Given the description of an element on the screen output the (x, y) to click on. 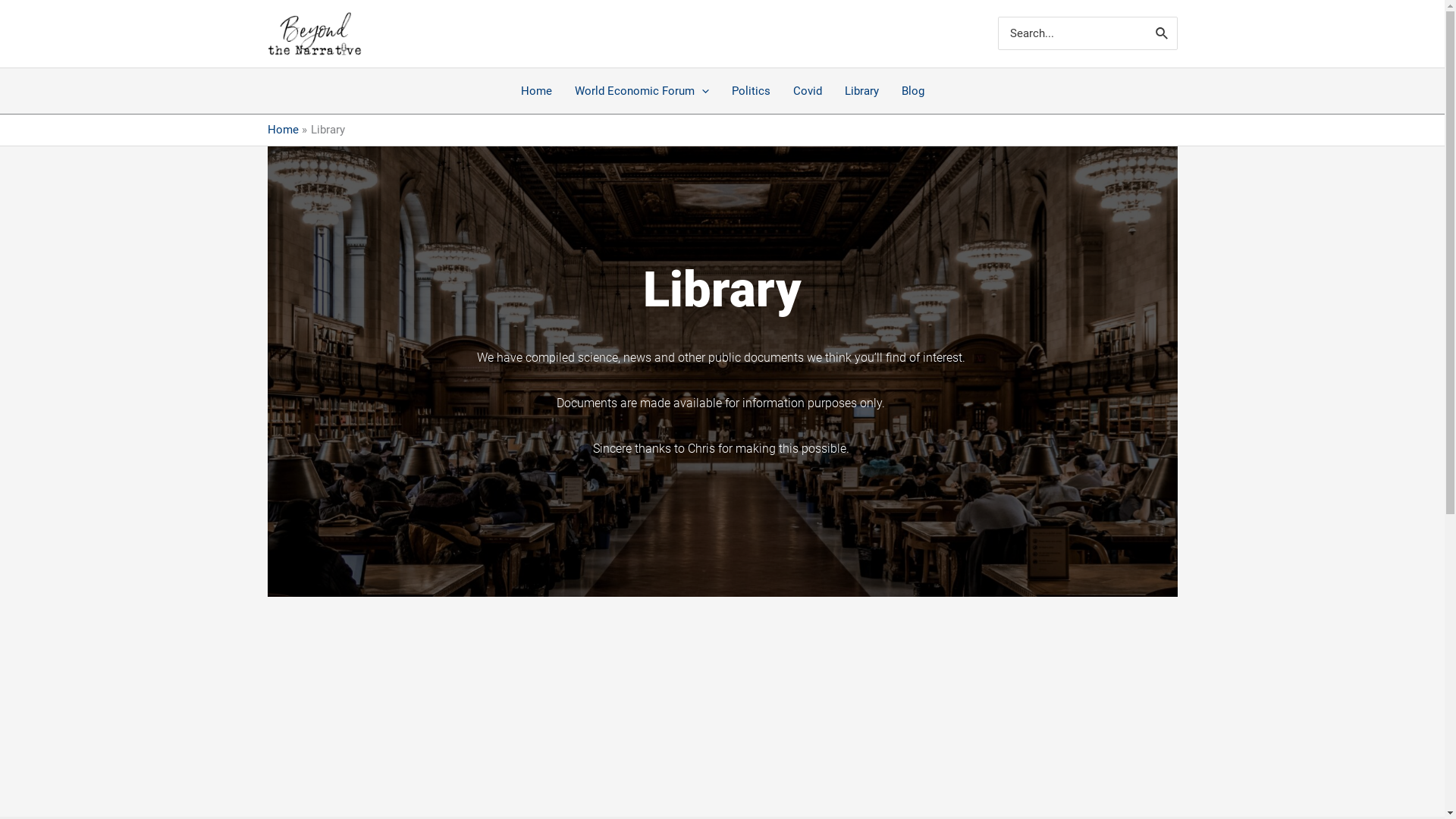
Library Element type: text (860, 90)
Search Element type: text (1162, 33)
Blog Element type: text (912, 90)
Home Element type: text (536, 90)
Covid Element type: text (806, 90)
World Economic Forum Element type: text (640, 90)
Politics Element type: text (750, 90)
Home Element type: text (282, 129)
